Given the description of an element on the screen output the (x, y) to click on. 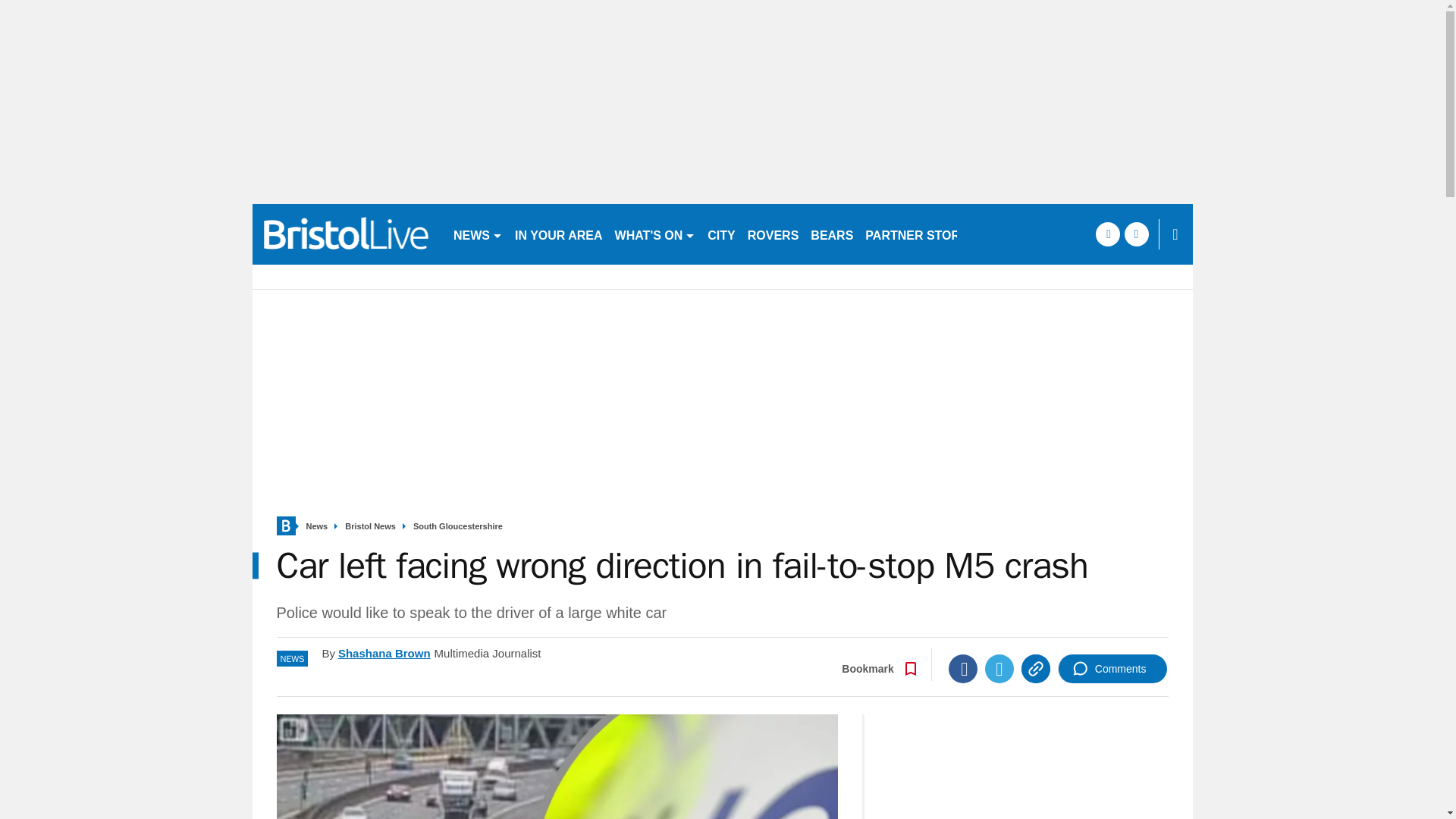
bristolpost (345, 233)
WHAT'S ON (654, 233)
PARTNER STORIES (922, 233)
Comments (1112, 668)
Facebook (962, 668)
Twitter (999, 668)
IN YOUR AREA (558, 233)
facebook (1106, 233)
twitter (1136, 233)
NEWS (477, 233)
BEARS (832, 233)
ROVERS (773, 233)
